Given the description of an element on the screen output the (x, y) to click on. 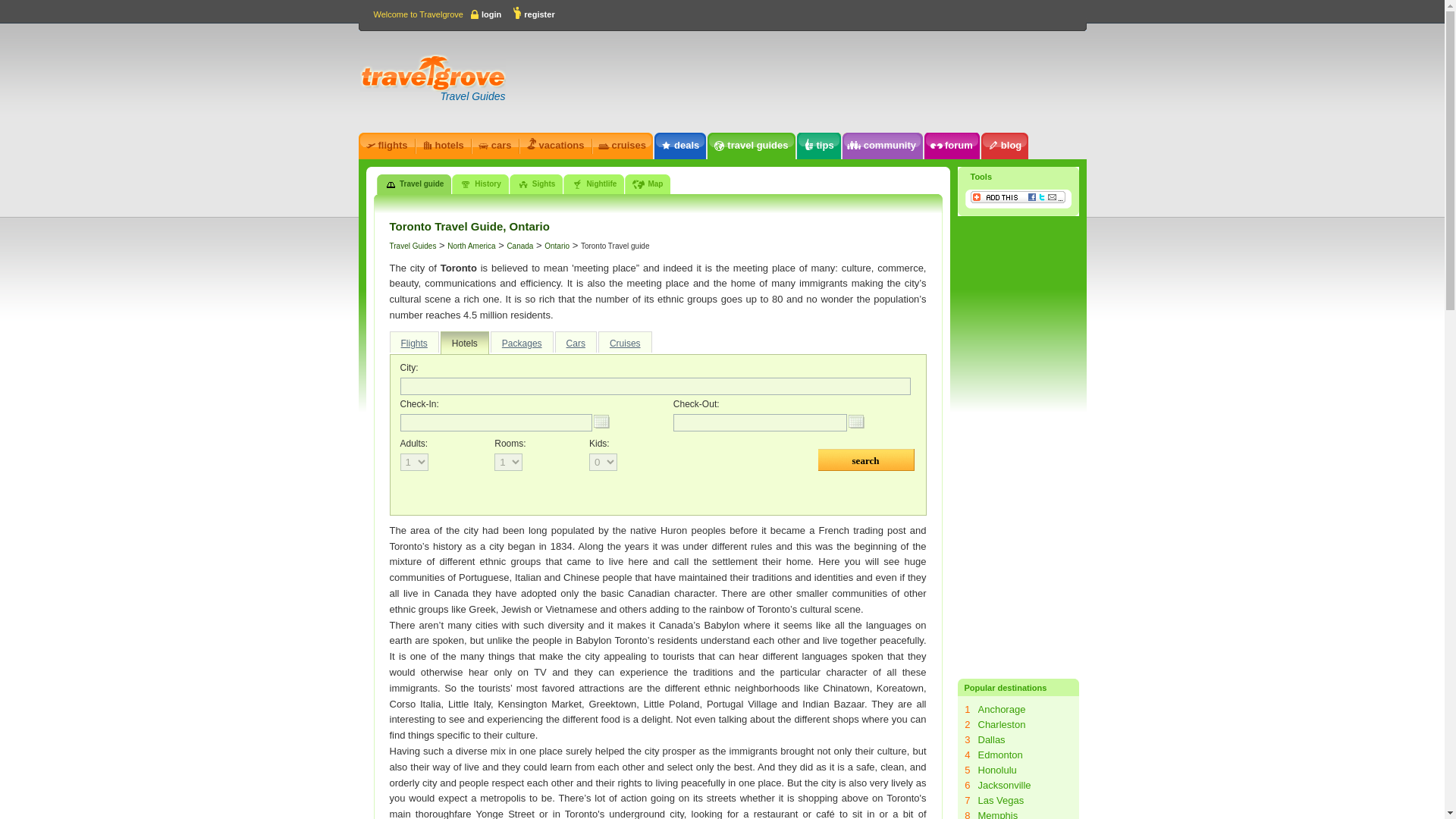
hotels (442, 145)
travel deals (678, 145)
blogs and more (881, 145)
Ontario travel guides (556, 246)
North America travel guides (470, 246)
deals (678, 145)
Travel Guides (413, 246)
Map (646, 184)
Nightlife (593, 184)
History (479, 184)
